Given the description of an element on the screen output the (x, y) to click on. 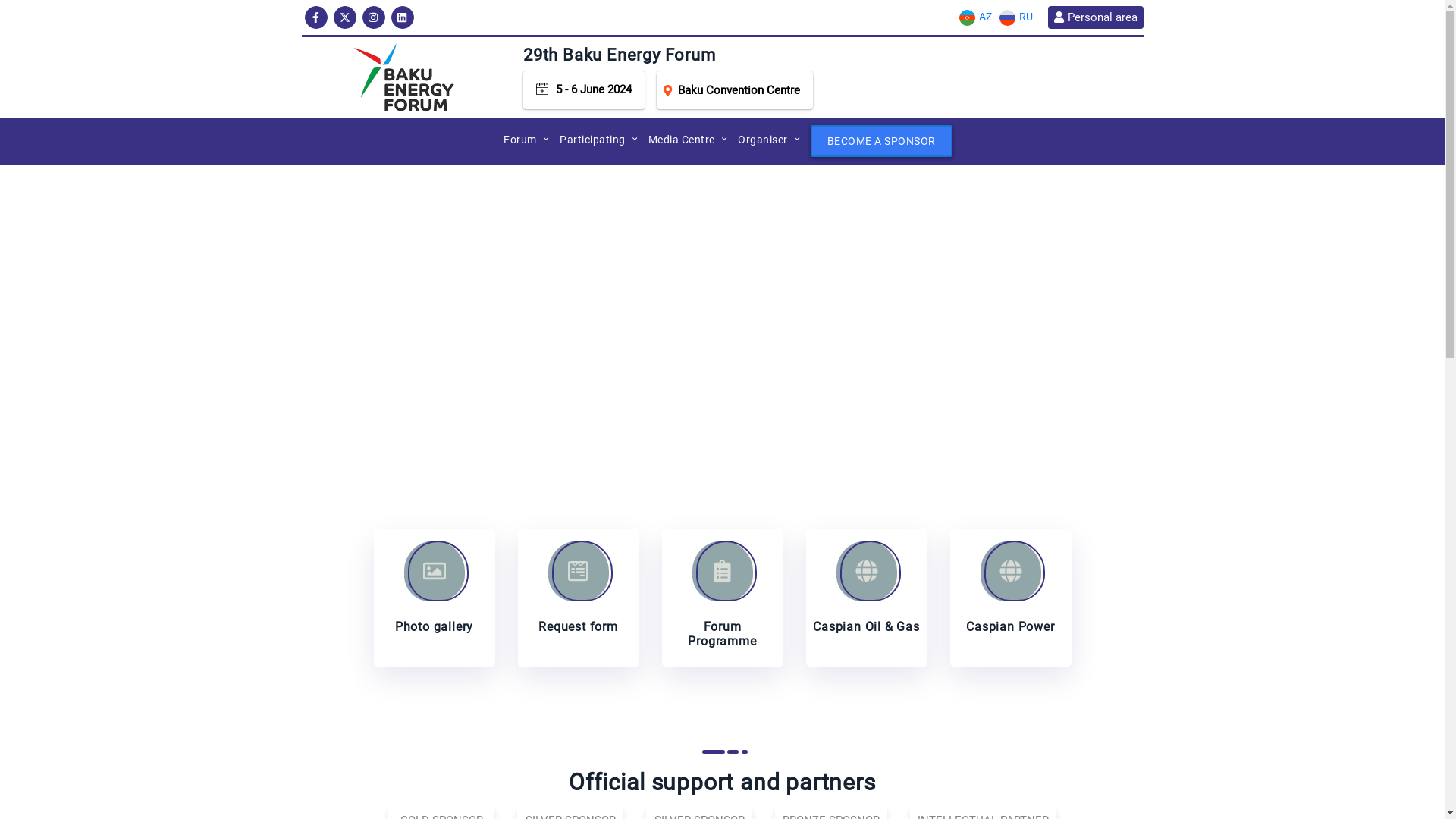
Media Centre Element type: text (681, 139)
AZ Element type: text (974, 16)
RU Element type: text (1014, 16)
Personal area Element type: text (1095, 17)
Participating Element type: text (592, 139)
Baku Convention Centre Element type: text (734, 90)
Photo gallery Element type: text (433, 597)
Forum Programme Element type: text (721, 597)
Caspian Power Element type: text (1009, 597)
Caspian Oil & Gas Element type: text (865, 597)
Request form Element type: text (577, 597)
Forum Element type: text (519, 139)
BECOME A SPONSOR Element type: text (881, 140)
Organiser Element type: text (762, 139)
